Given the description of an element on the screen output the (x, y) to click on. 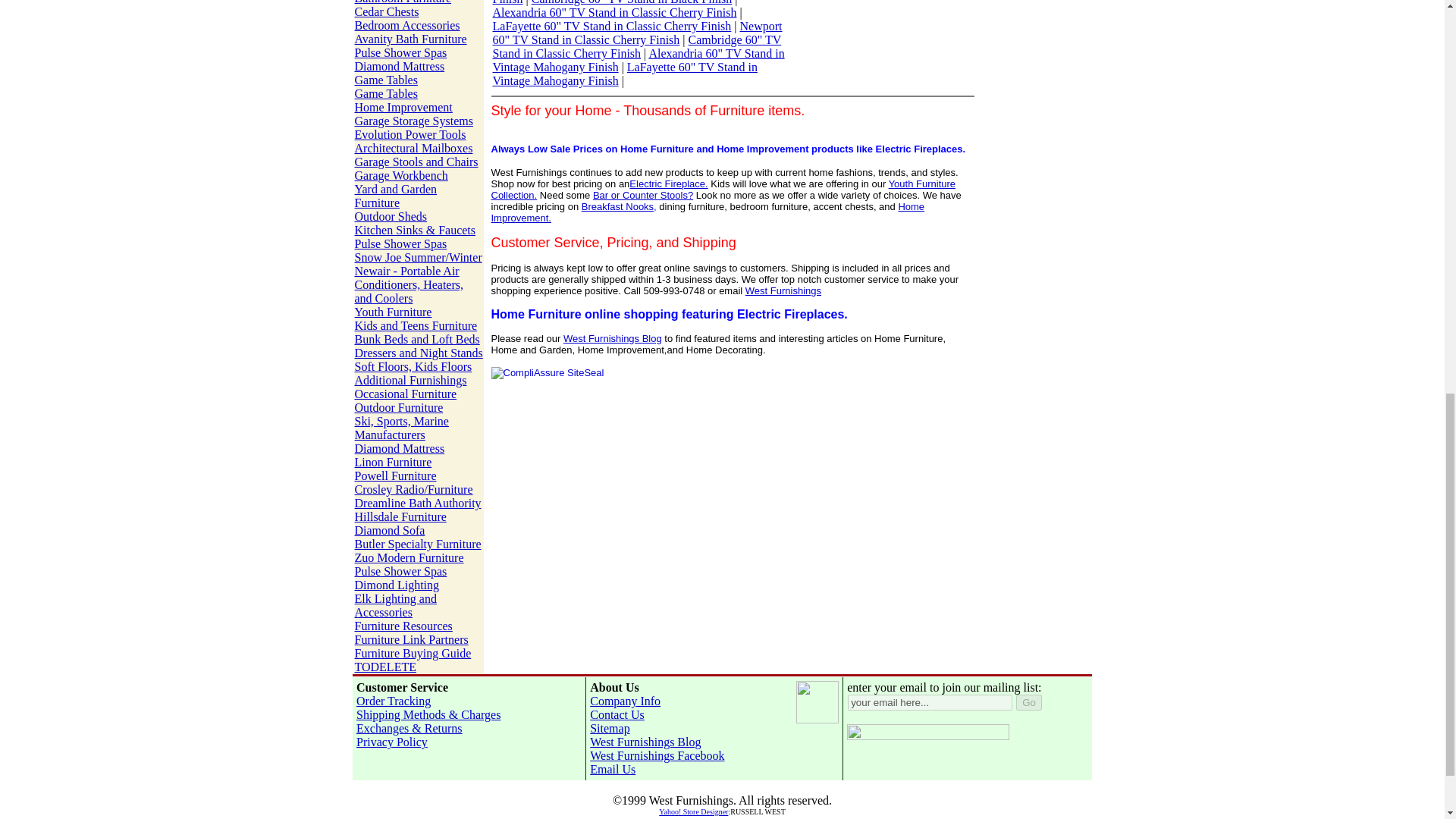
your email here... (929, 702)
Go (1029, 702)
